Given the description of an element on the screen output the (x, y) to click on. 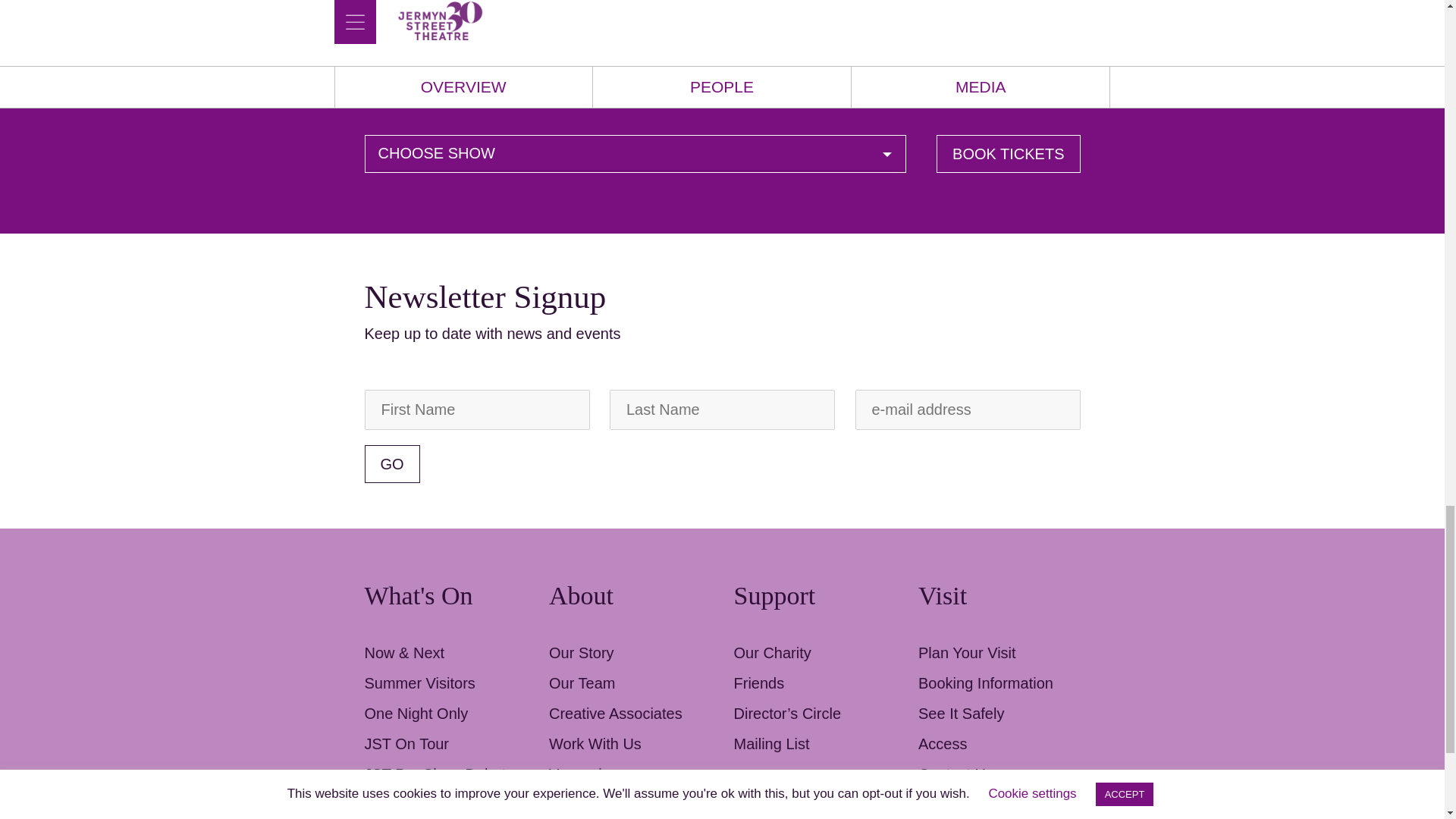
BOOK TICKETS (1008, 154)
GO (391, 464)
GO (391, 464)
JST On Tour (406, 743)
JST Pre Show Debate (438, 773)
Facebook (930, 809)
twitter (960, 809)
Archive (389, 804)
Summer Visitors (419, 682)
YouTube (1020, 809)
One Night Only (415, 713)
Instagram (990, 809)
